Given the description of an element on the screen output the (x, y) to click on. 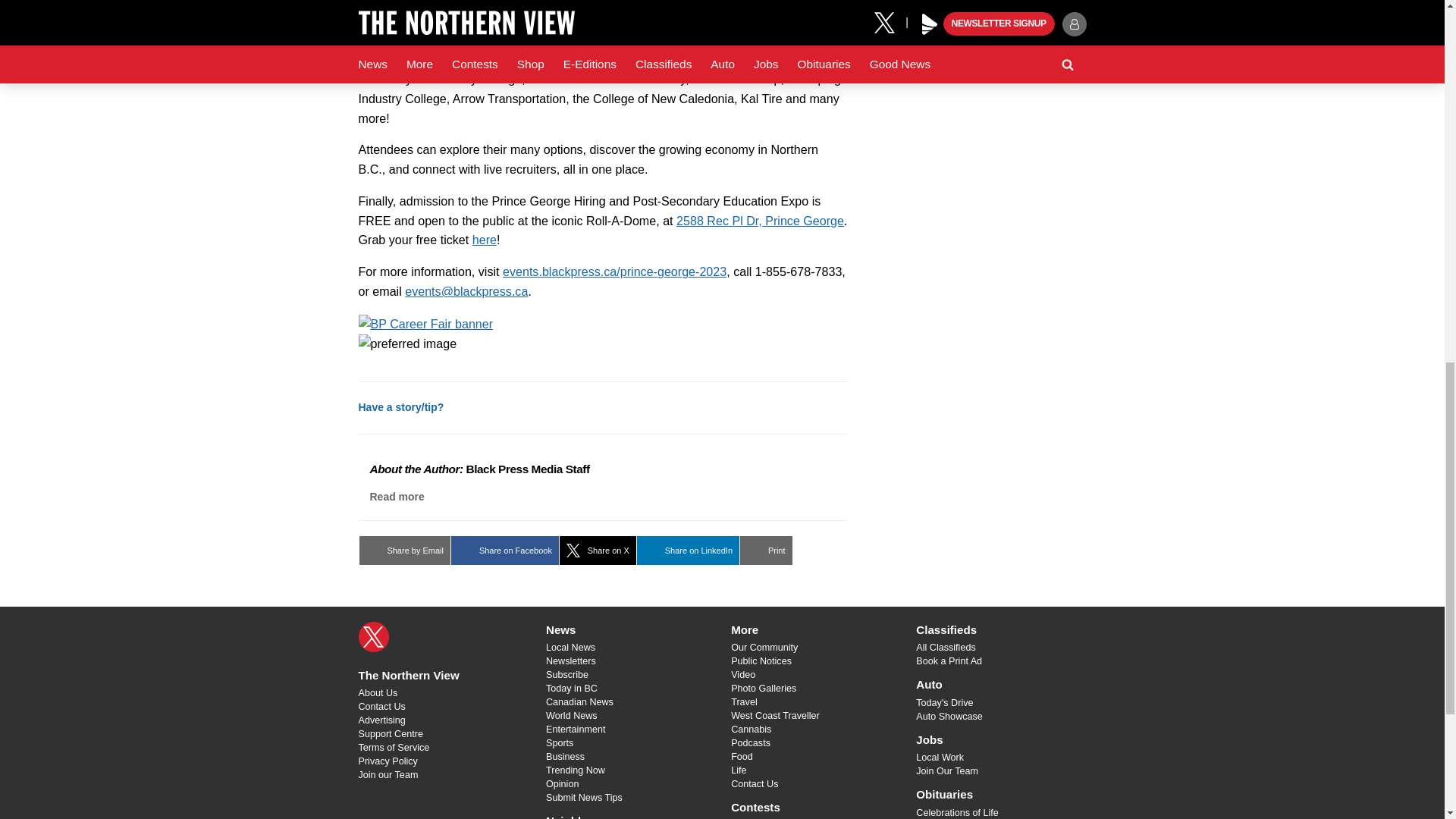
X (373, 636)
Call 1-855-678-7833, with 3CX Click to Call (797, 271)
